Given the description of an element on the screen output the (x, y) to click on. 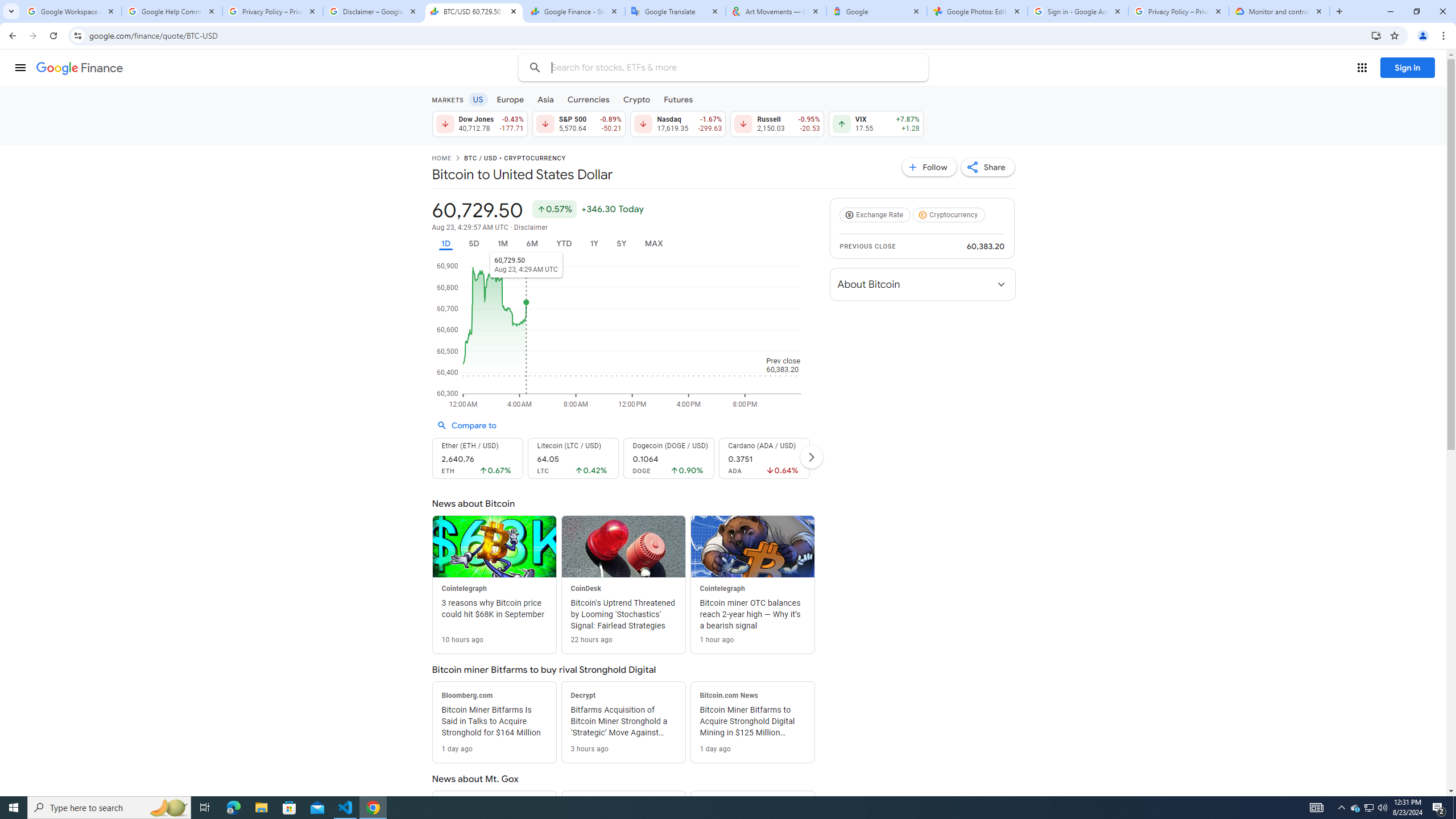
Disclaimer (530, 227)
Russell 2,150.03 Down by 0.95% -20.53 (777, 123)
About Bitcoin (923, 284)
5D (473, 243)
Sign in - Google Accounts (1078, 11)
S&P 500 5,570.64 Down by 0.89% -50.21 (578, 123)
